Given the description of an element on the screen output the (x, y) to click on. 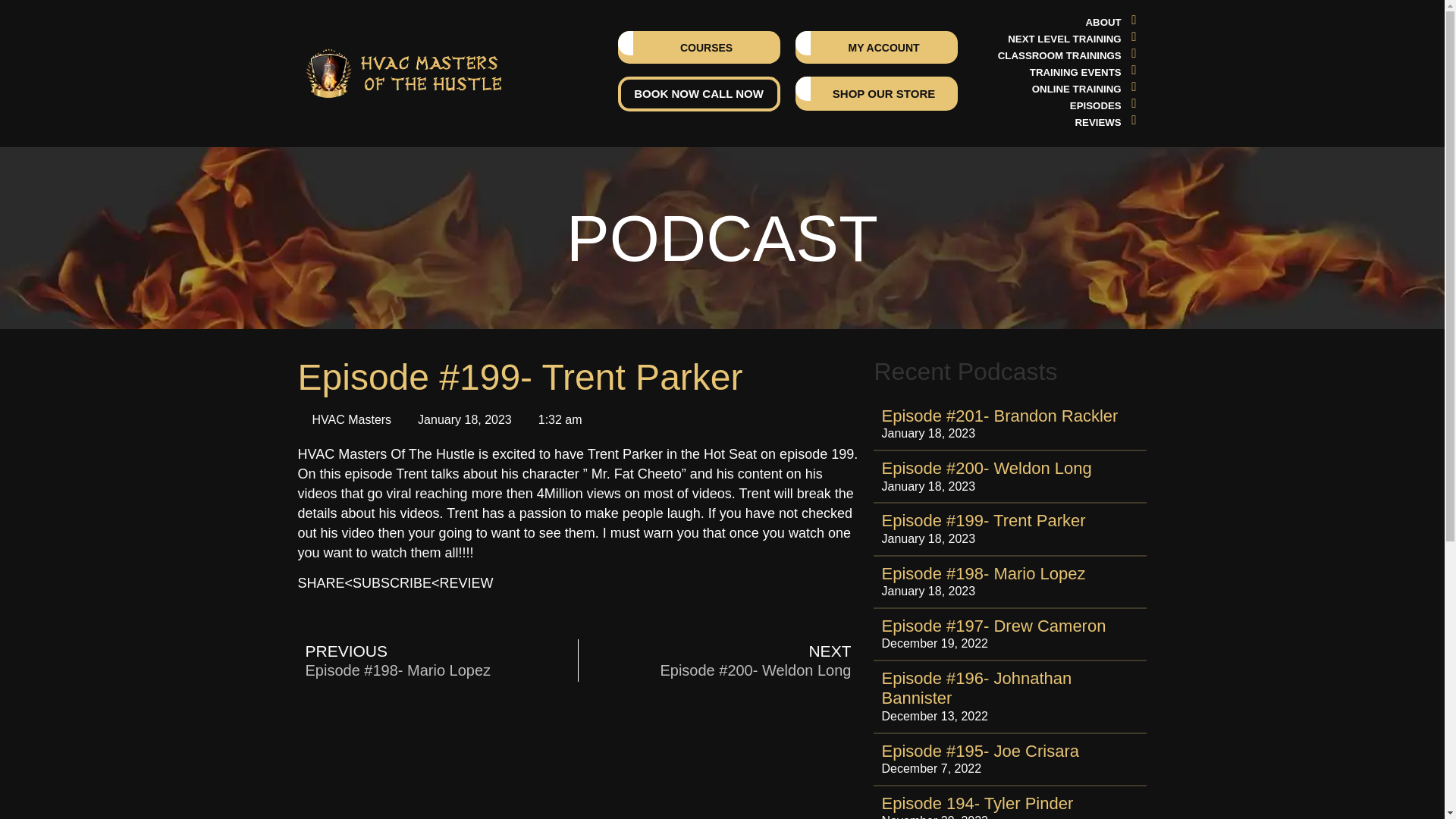
NEXT LEVEL TRAINING (1064, 38)
Episode 194- Tyler Pinder (976, 803)
BOOK NOW CALL NOW (698, 93)
SHOP OUR STORE (876, 92)
HVAC Masters (344, 420)
CLASSROOM TRAININGS (1059, 55)
ONLINE TRAINING (1076, 88)
COURSES (698, 47)
MY ACCOUNT (876, 47)
EPISODES (1095, 105)
